Given the description of an element on the screen output the (x, y) to click on. 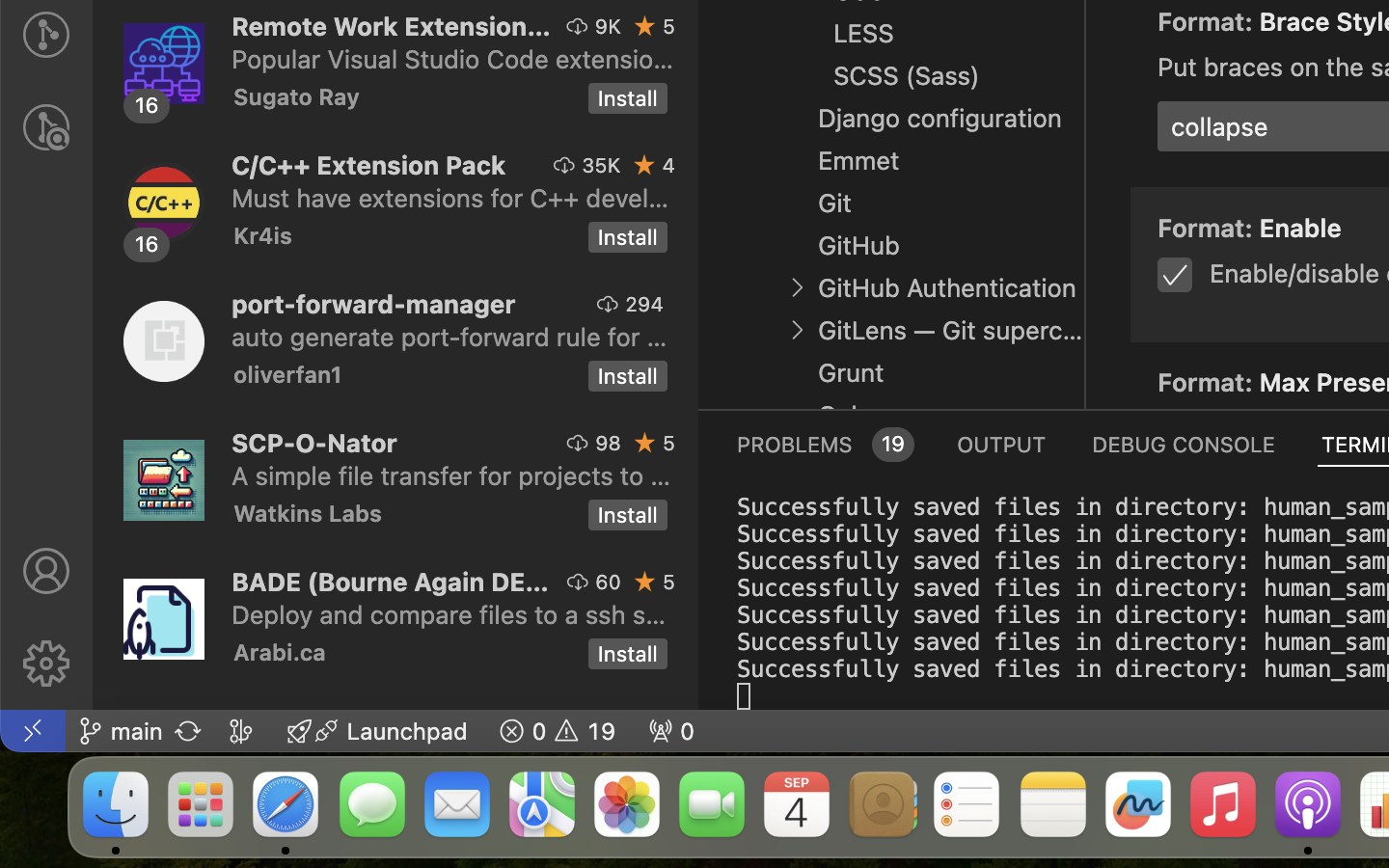
 Element type: AXGroup (46, 570)
Git Element type: AXStaticText (834, 203)
GitHub Authentication Element type: AXStaticText (946, 287)
Grunt Element type: AXStaticText (851, 372)
98 Element type: AXStaticText (608, 442)
